Given the description of an element on the screen output the (x, y) to click on. 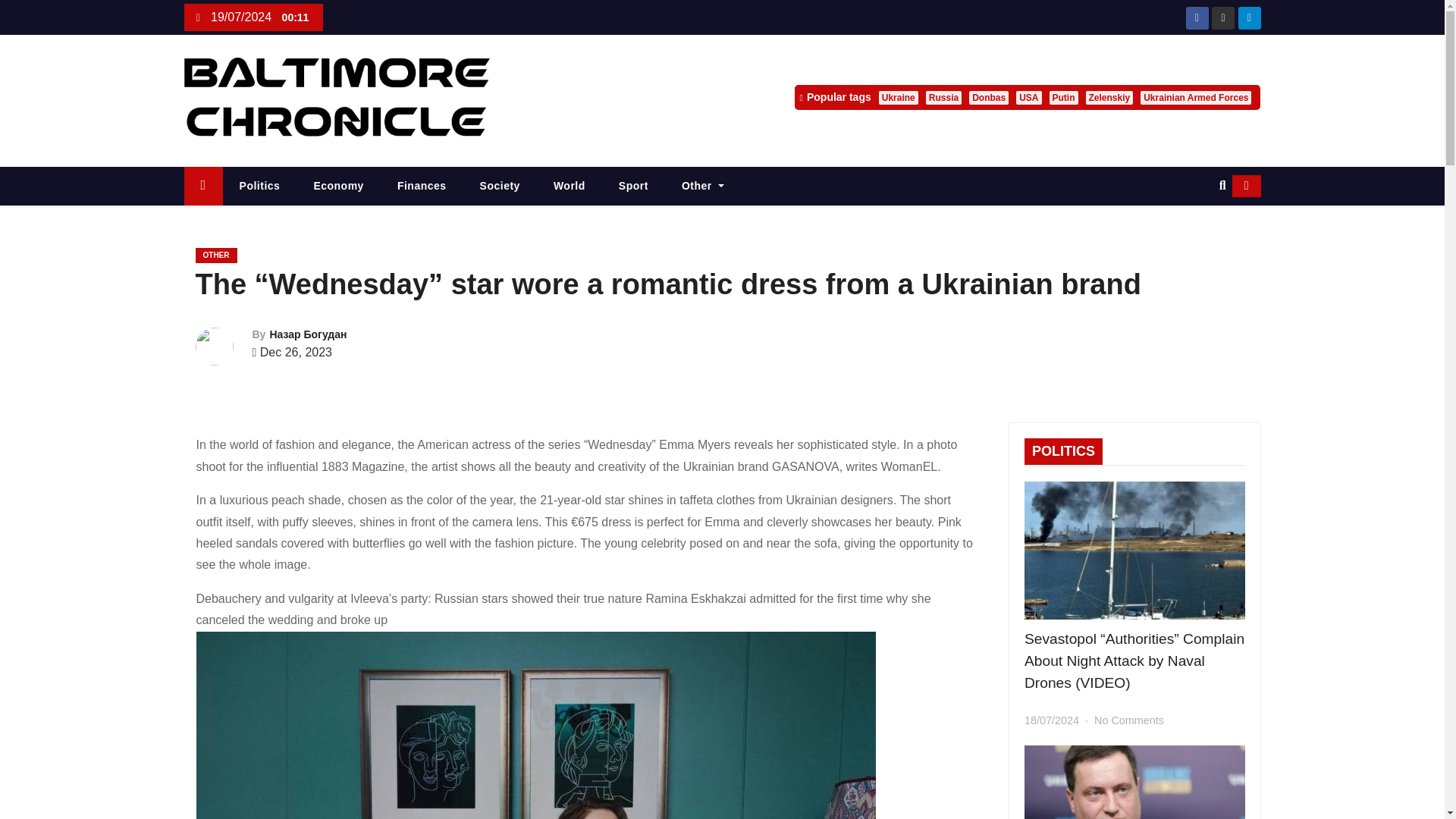
Politics (259, 186)
Society (500, 186)
Other (703, 186)
World (569, 186)
World (569, 186)
Donbas (989, 97)
Putin (1063, 97)
USA (1028, 97)
Other (703, 186)
Finances (421, 186)
Economy (338, 186)
Home (202, 186)
Russia (943, 97)
Society (500, 186)
Sport (633, 186)
